Given the description of an element on the screen output the (x, y) to click on. 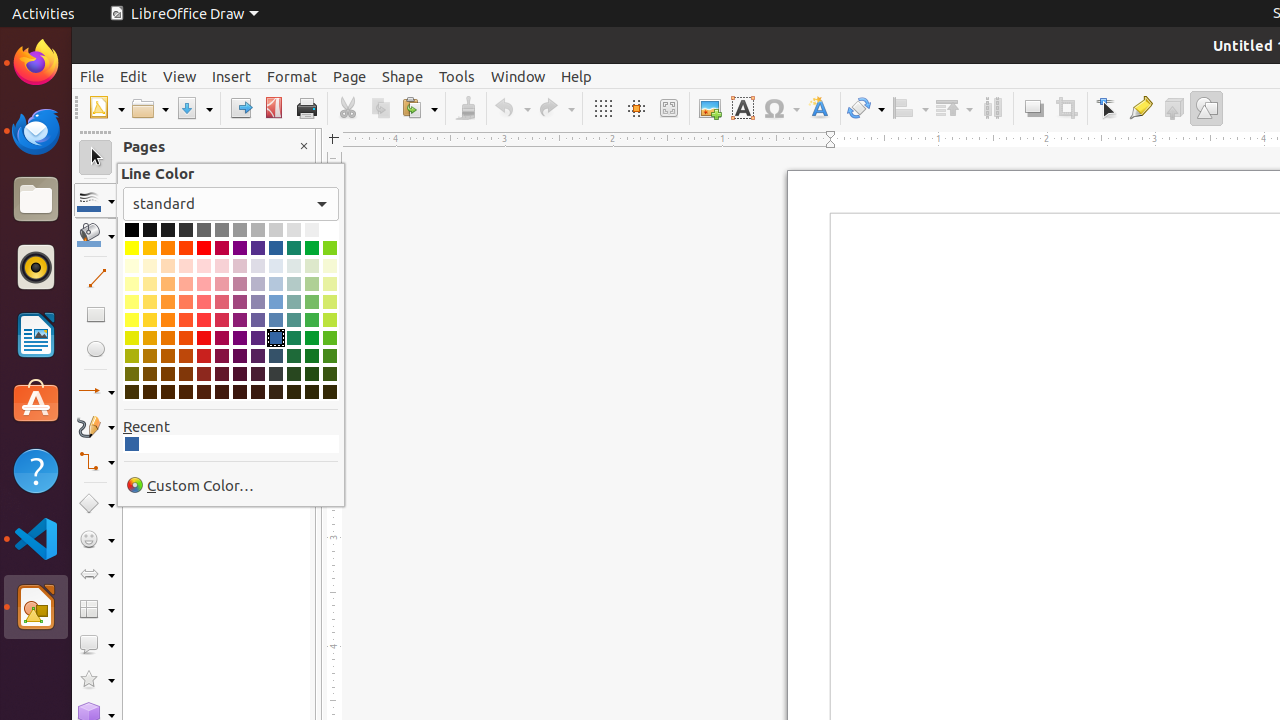
Light Green 3 Element type: list-item (312, 284)
Blue Element type: list-item (276, 248)
Rhythmbox Element type: push-button (36, 267)
Light Gray 5 Element type: list-item (312, 230)
Light Brick 1 Element type: list-item (186, 320)
